Given the description of an element on the screen output the (x, y) to click on. 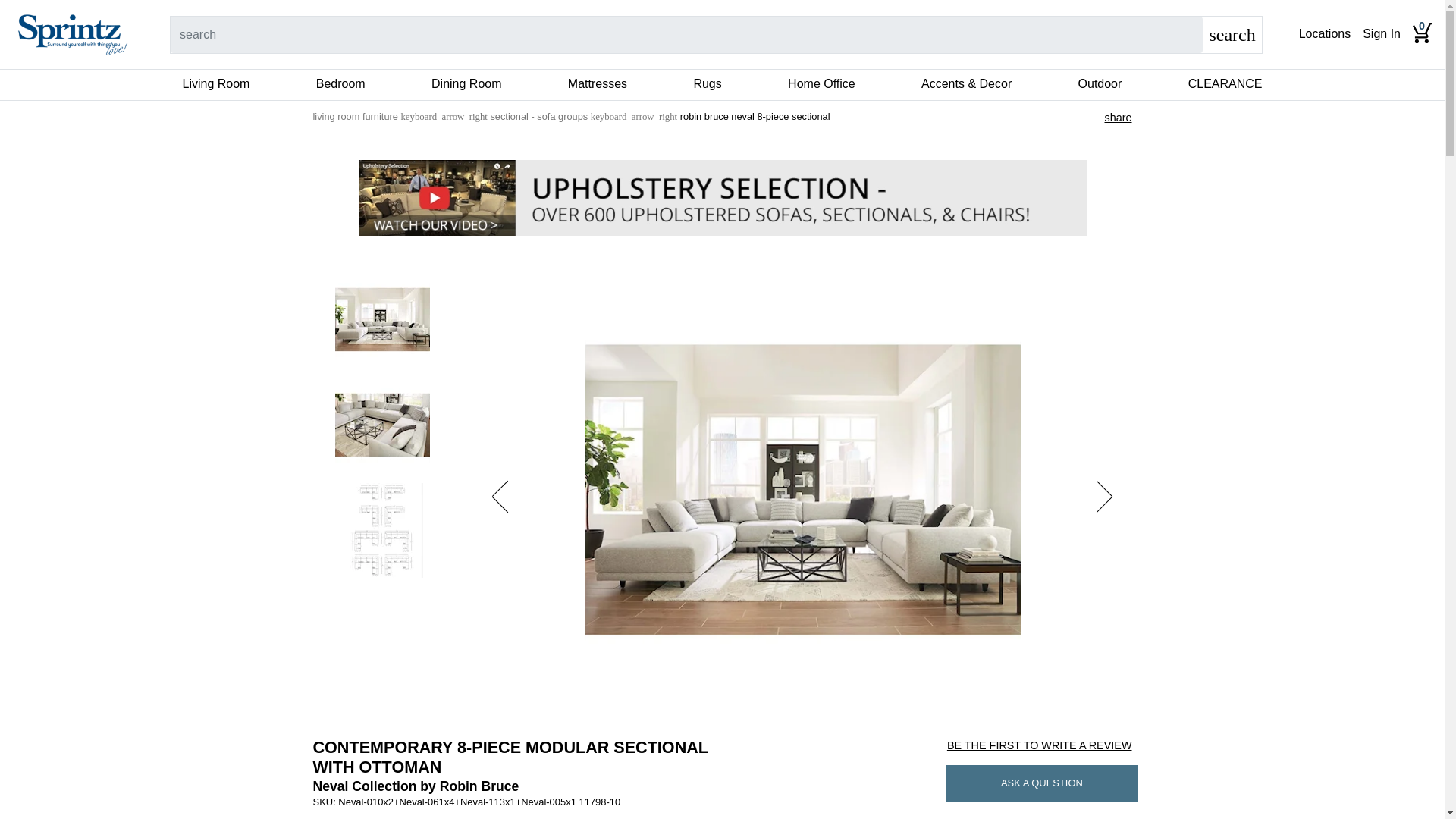
Sign In (1381, 33)
Living Room (215, 84)
Bedroom (340, 84)
Locations (1324, 33)
